Given the description of an element on the screen output the (x, y) to click on. 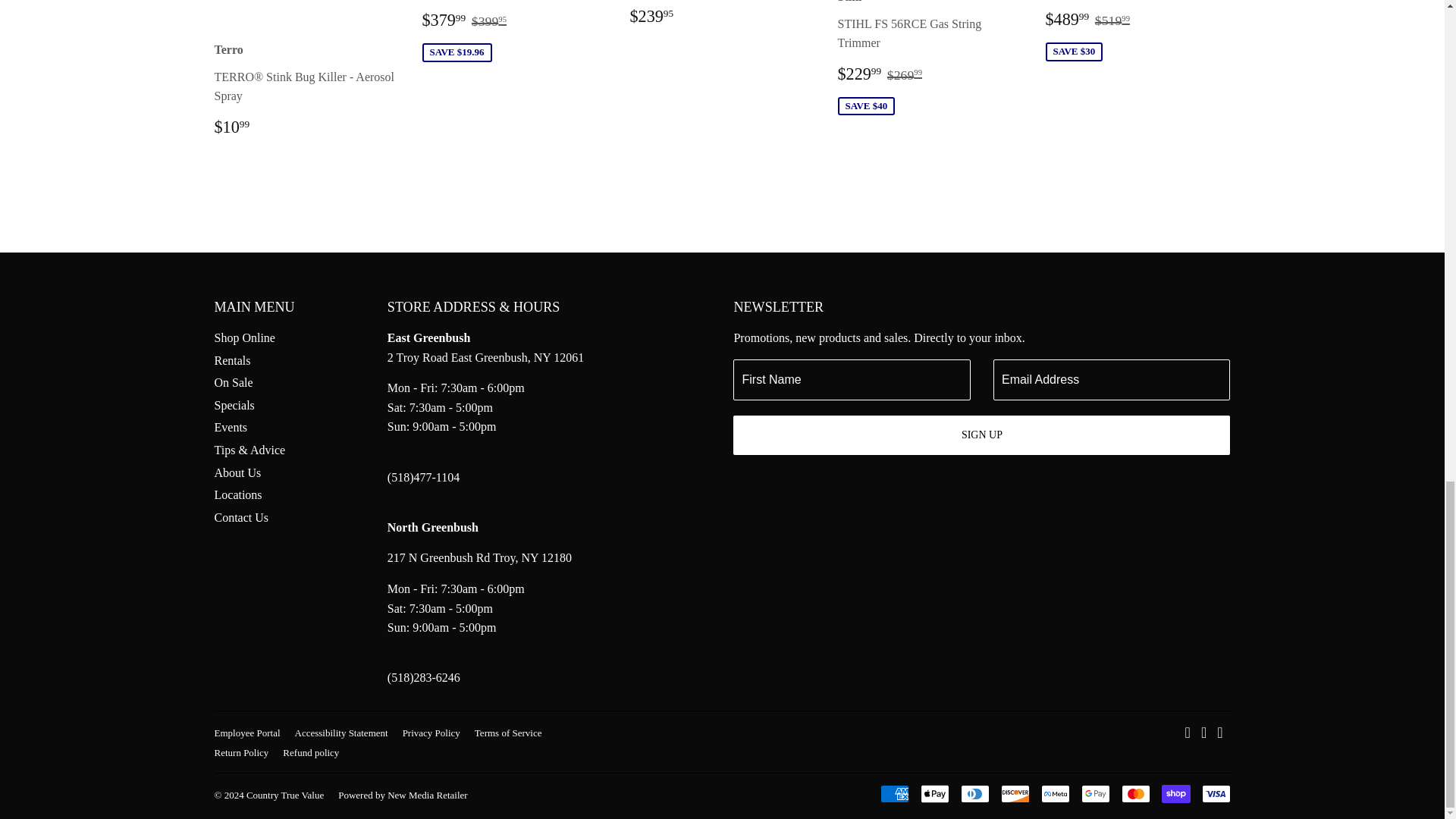
New Media Retailer (402, 794)
Google Pay (1095, 793)
Diners Club (973, 793)
American Express (893, 793)
Visa (1215, 793)
Mastercard (1135, 793)
Shop Pay (1176, 793)
Discover (1015, 793)
Apple Pay (934, 793)
Meta Pay (1054, 793)
